Given the description of an element on the screen output the (x, y) to click on. 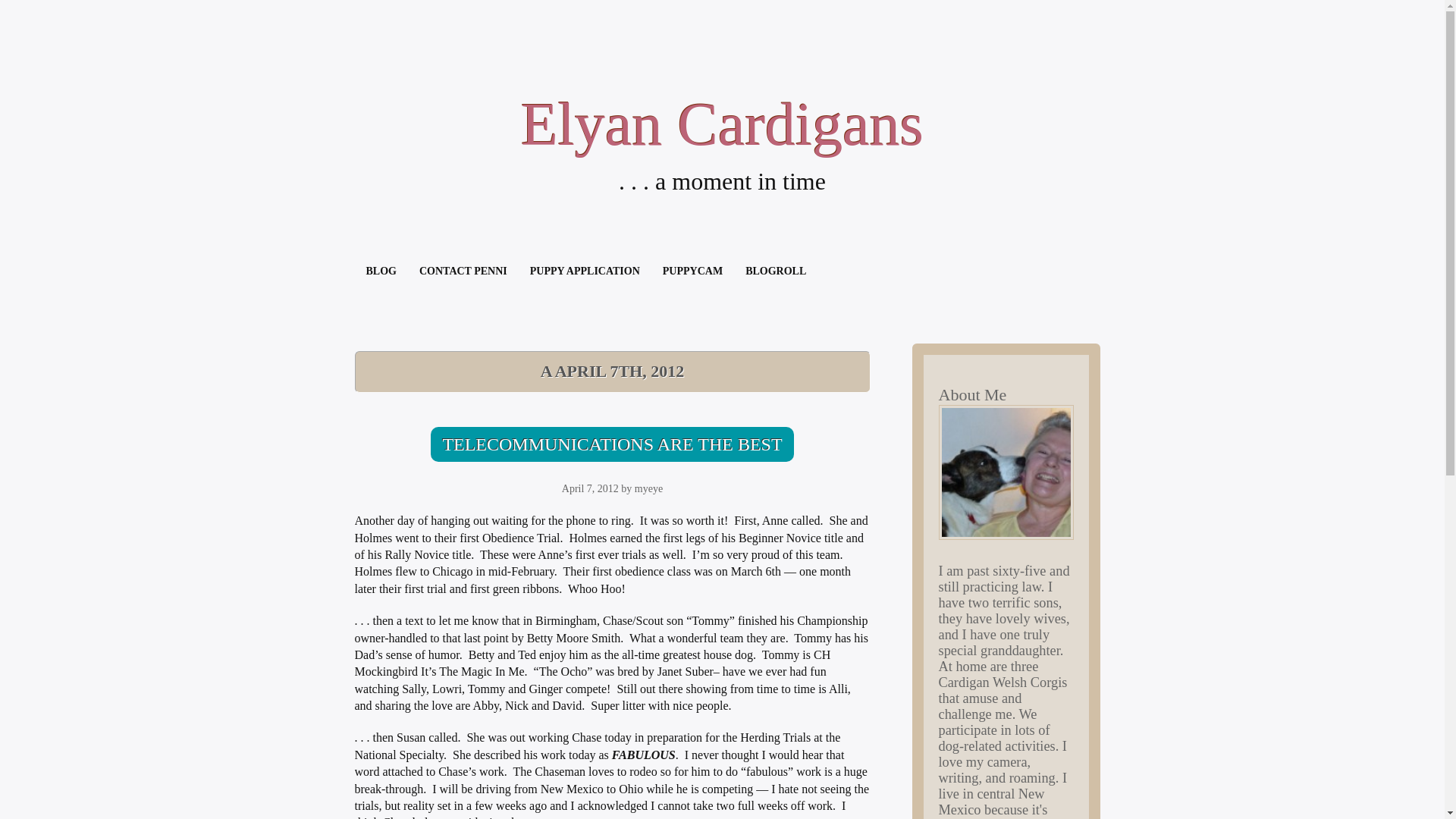
BLOGROLL (774, 271)
TELECOMMUNICATIONS ARE THE BEST (611, 443)
PUPPY APPLICATION (584, 271)
Elyan Cardigans (722, 124)
CONTACT PENNI (462, 271)
BLOG (381, 271)
Elyan Cardigans (722, 124)
PUPPYCAM (691, 271)
